Given the description of an element on the screen output the (x, y) to click on. 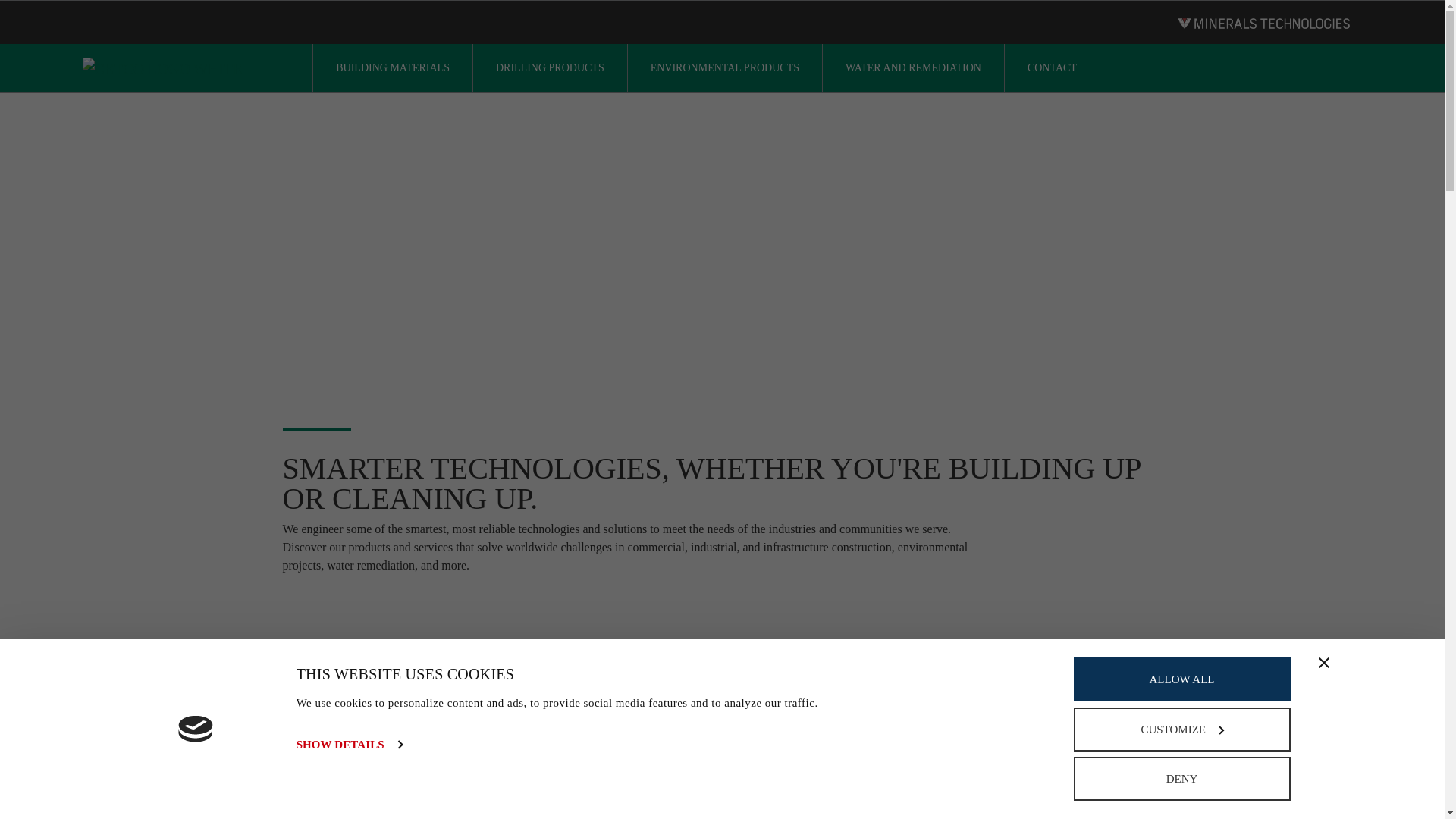
Minerals Technologies Logo Footer (1263, 23)
CETCO Water Remediation (1041, 663)
DENY (1182, 778)
Open image in original size (162, 67)
CETCO Logo White (162, 68)
Open image in original size (1263, 22)
SHOW DETAILS (350, 744)
